Given the description of an element on the screen output the (x, y) to click on. 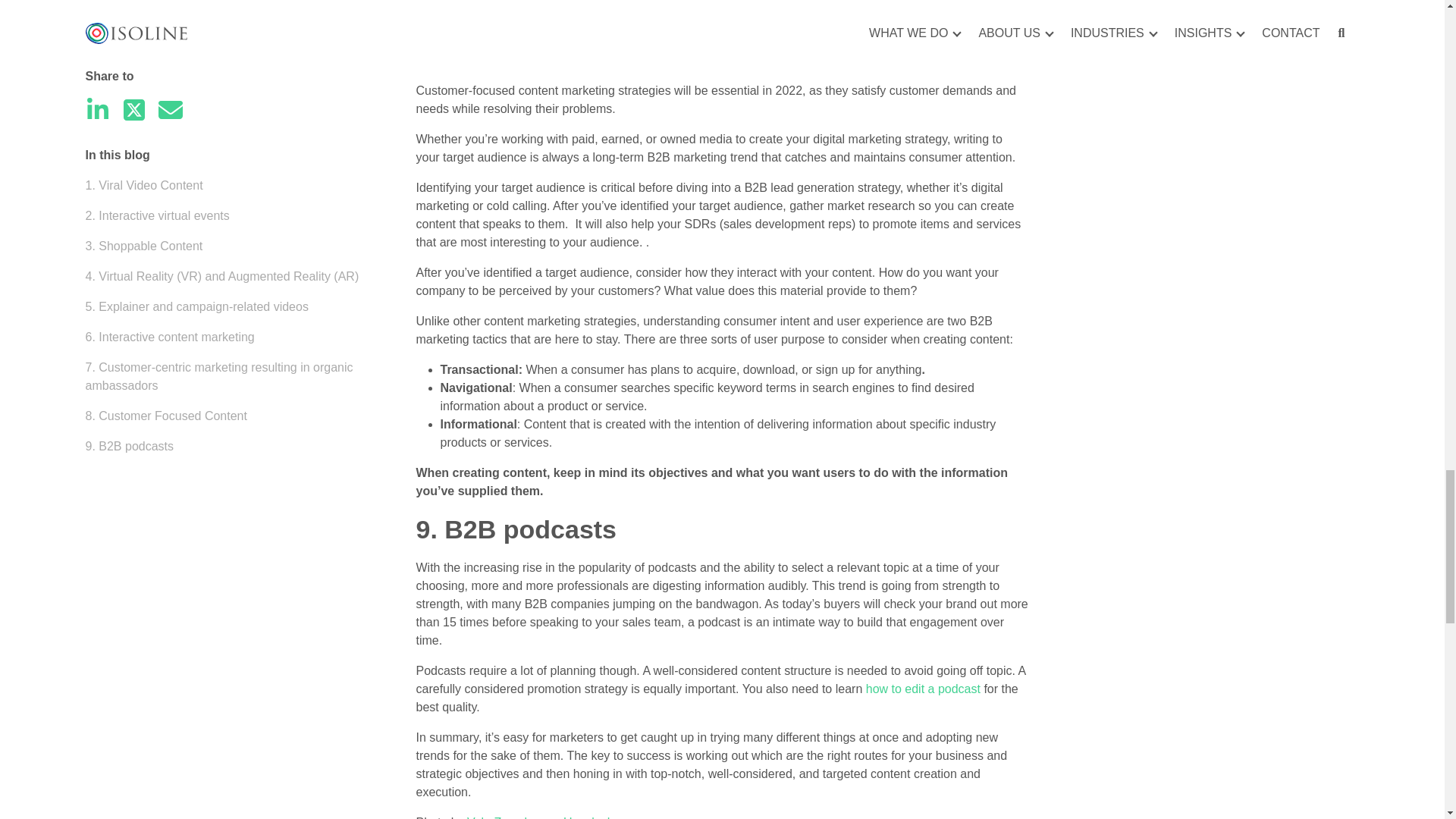
Tech B2B content marketing: A benchmarking report (661, 13)
how to edit a podcast (922, 688)
